Given the description of an element on the screen output the (x, y) to click on. 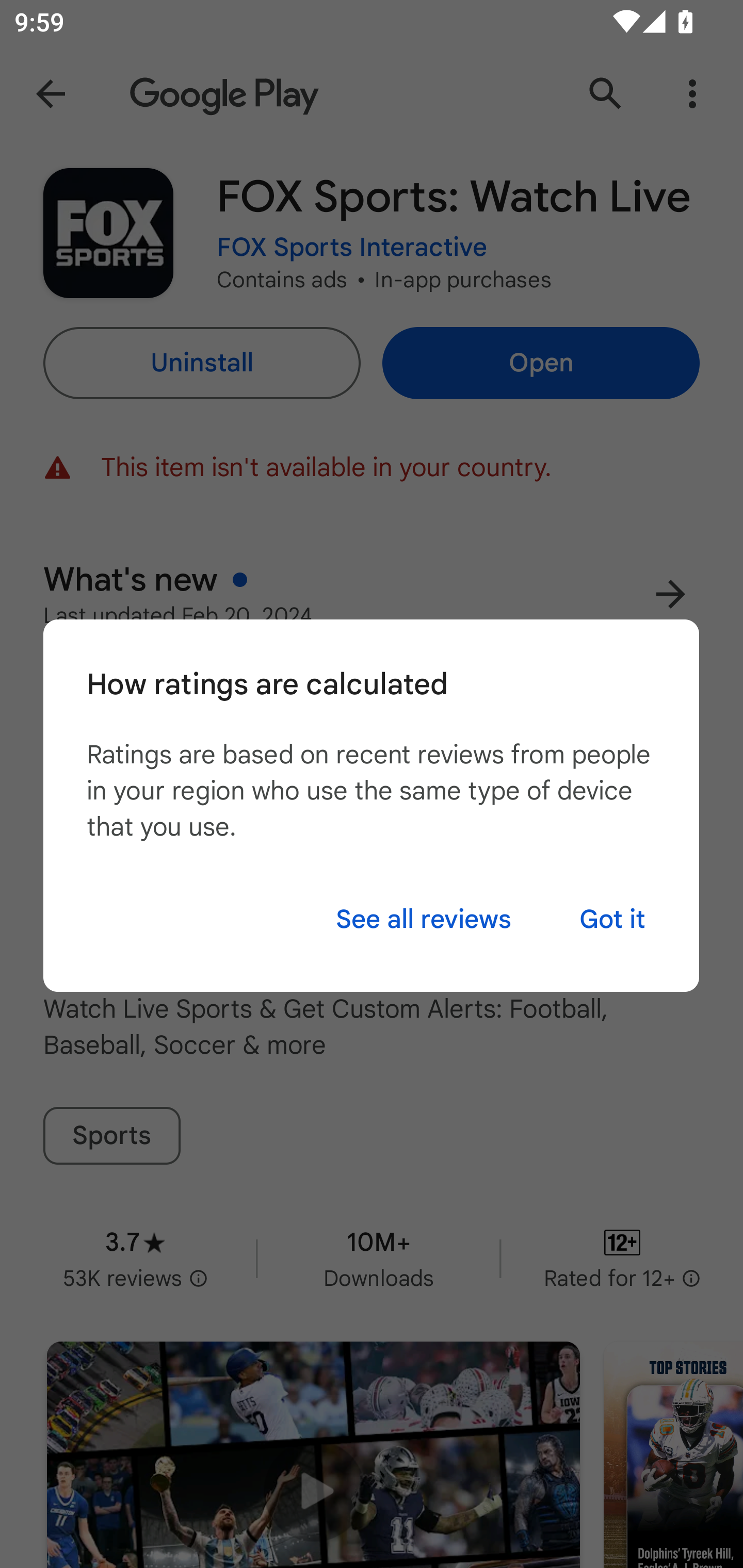
See all reviews (423, 919)
Got it (612, 919)
